Given the description of an element on the screen output the (x, y) to click on. 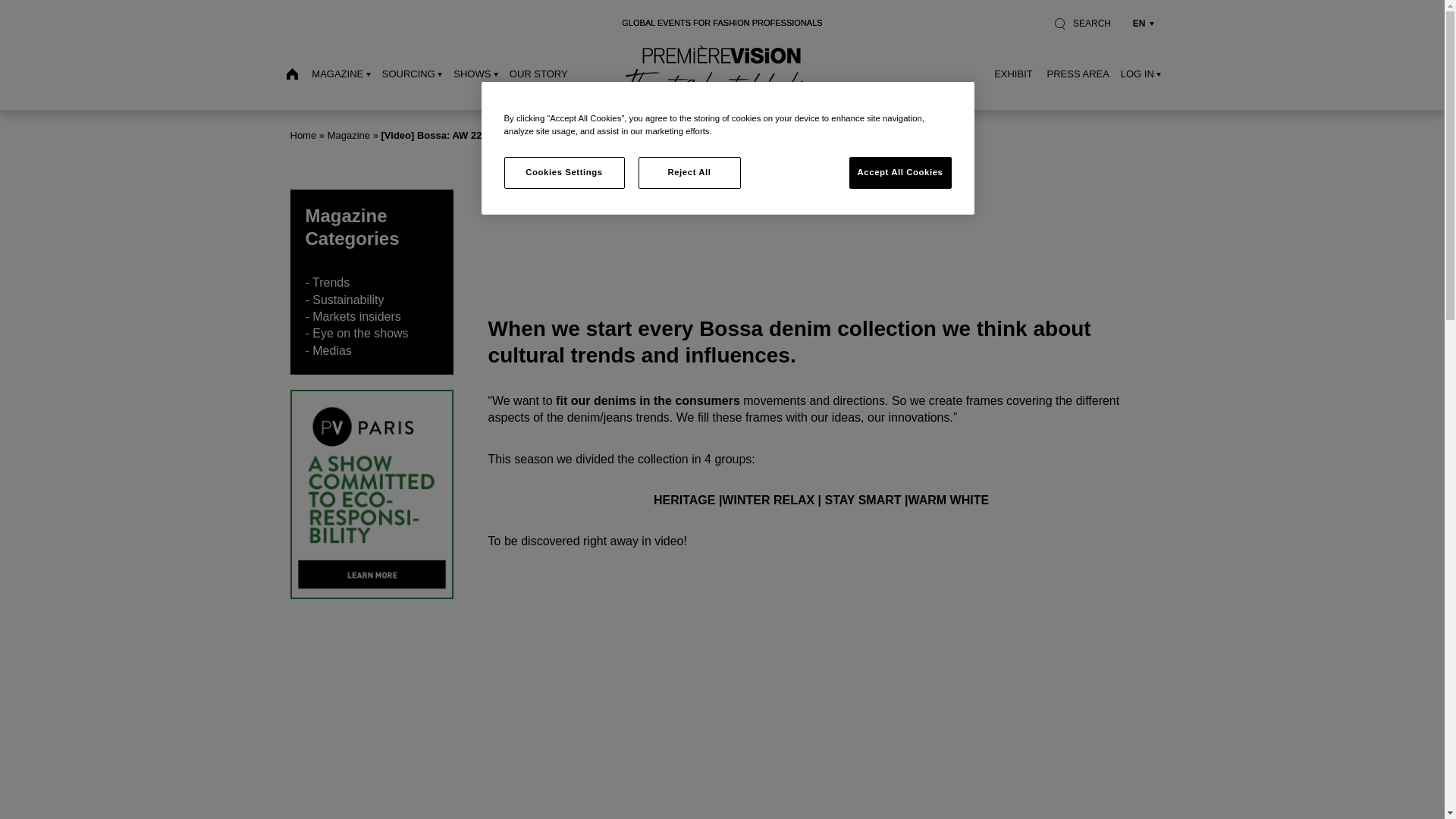
SHOWS (474, 73)
SOURCING (411, 73)
OUR STORY (538, 73)
SEARCH (1082, 23)
Share on Twitter (533, 248)
Share on Linkedin (563, 248)
Share on Facebook (502, 248)
Share on Email (594, 248)
EXHIBIT (1013, 73)
MAGAZINE (341, 73)
